Given the description of an element on the screen output the (x, y) to click on. 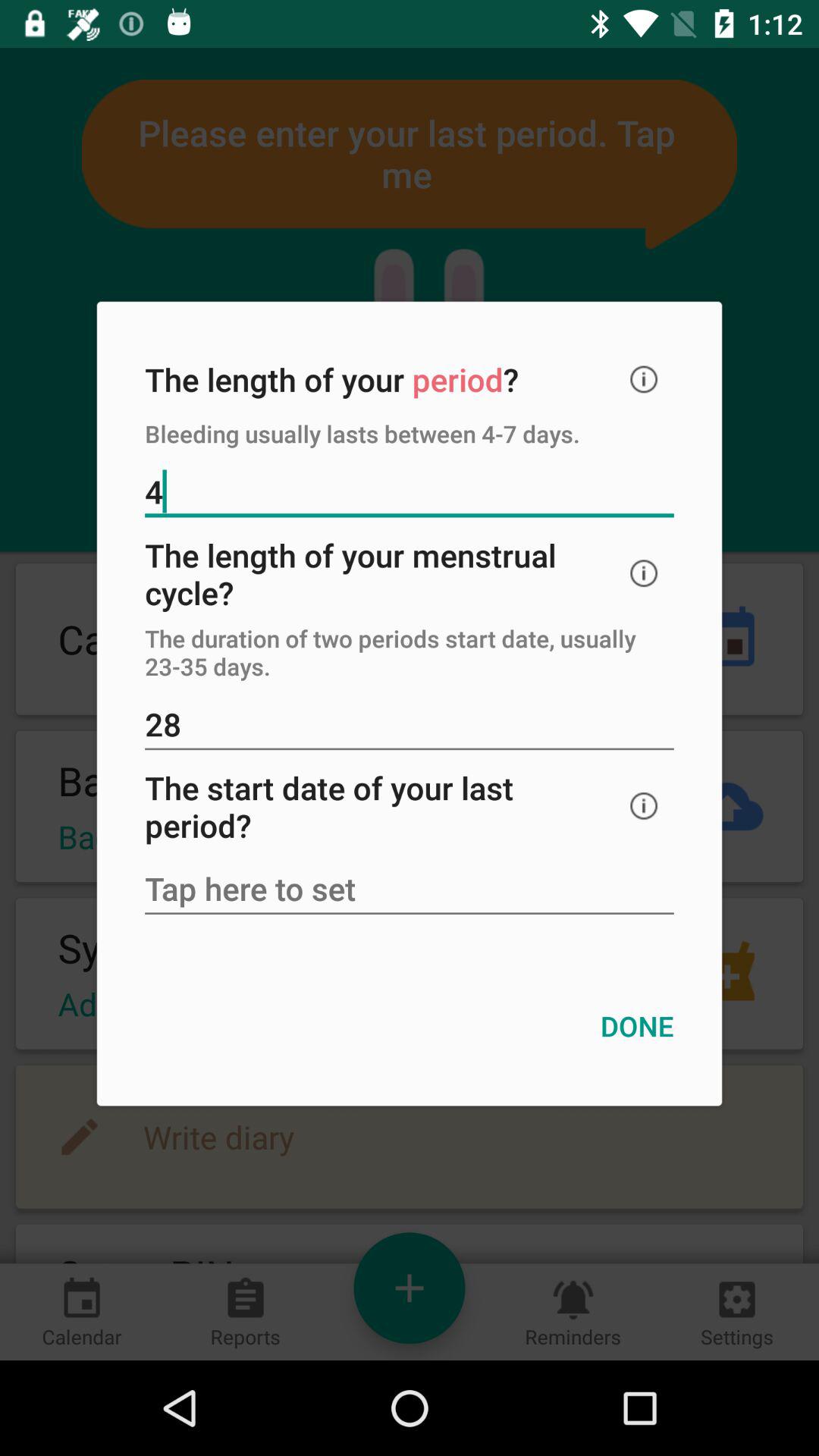
setup/choose start date (409, 890)
